Given the description of an element on the screen output the (x, y) to click on. 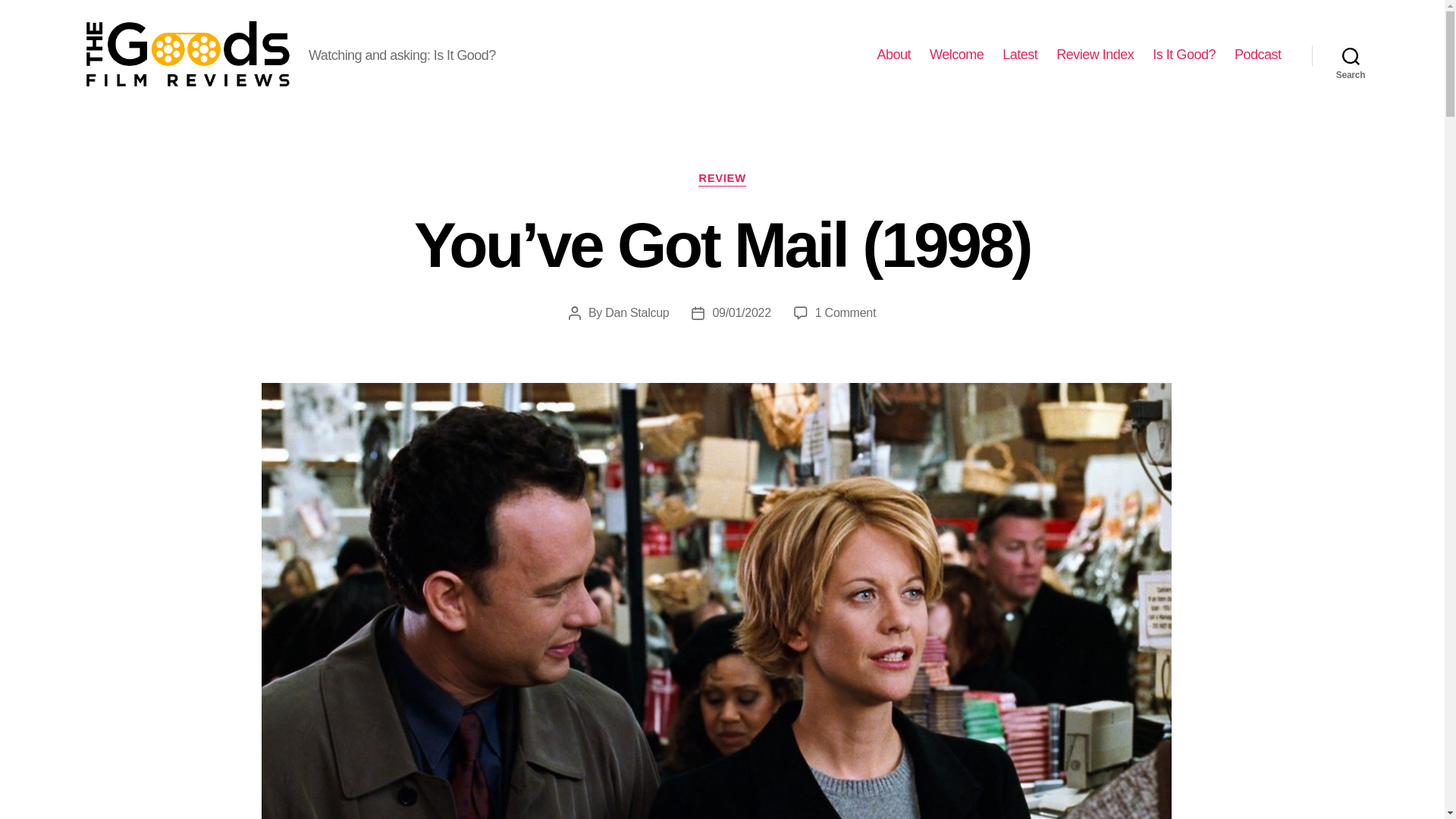
Search (1350, 55)
Dan Stalcup (636, 312)
Is It Good? (1184, 54)
Podcast (1257, 54)
Welcome (957, 54)
Latest (1019, 54)
Review Index (1095, 54)
REVIEW (721, 178)
About (893, 54)
